Given the description of an element on the screen output the (x, y) to click on. 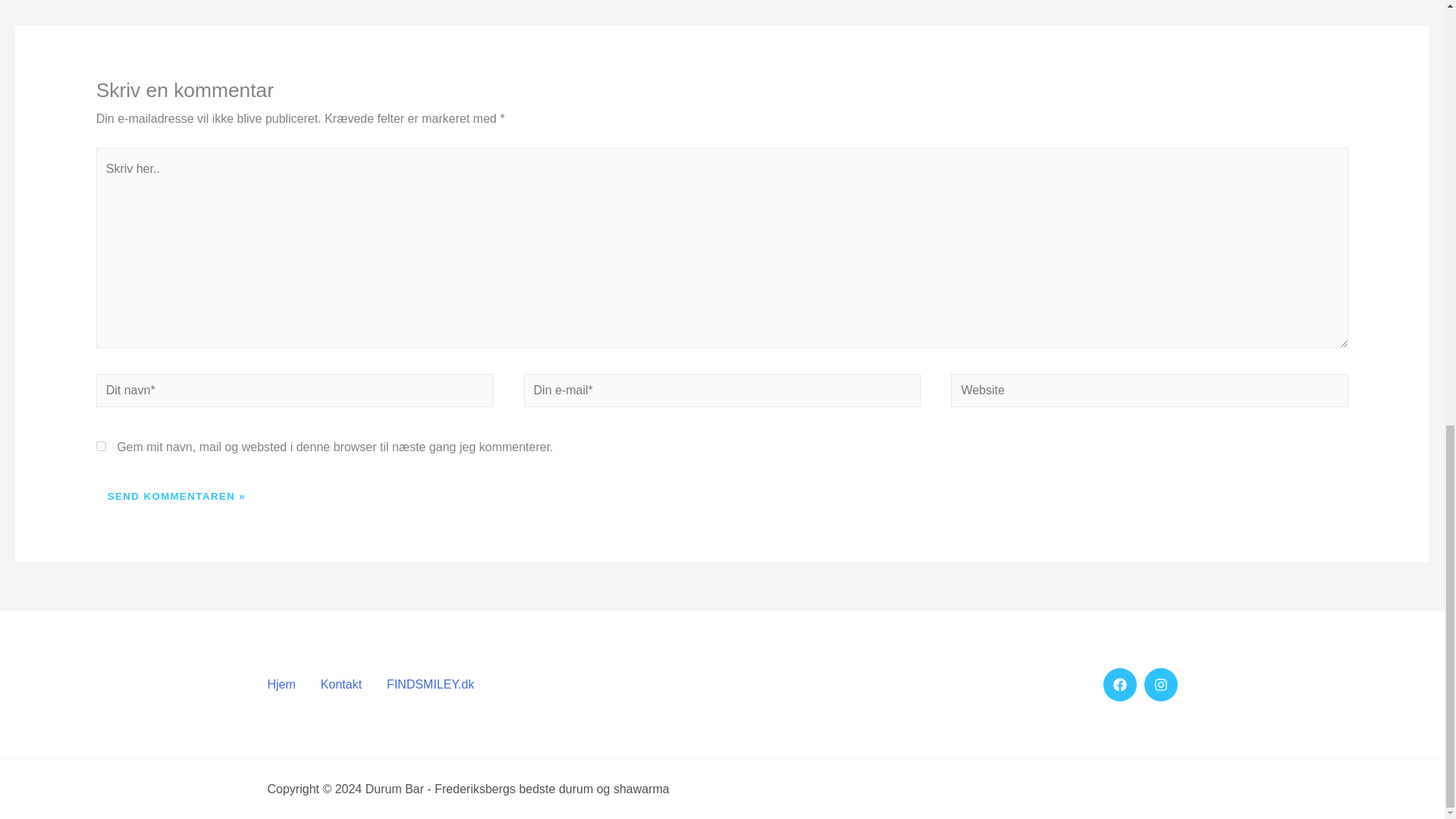
yes (101, 446)
Kontakt (347, 684)
FINDSMILEY.dk (436, 684)
Hjem (290, 684)
